Given the description of an element on the screen output the (x, y) to click on. 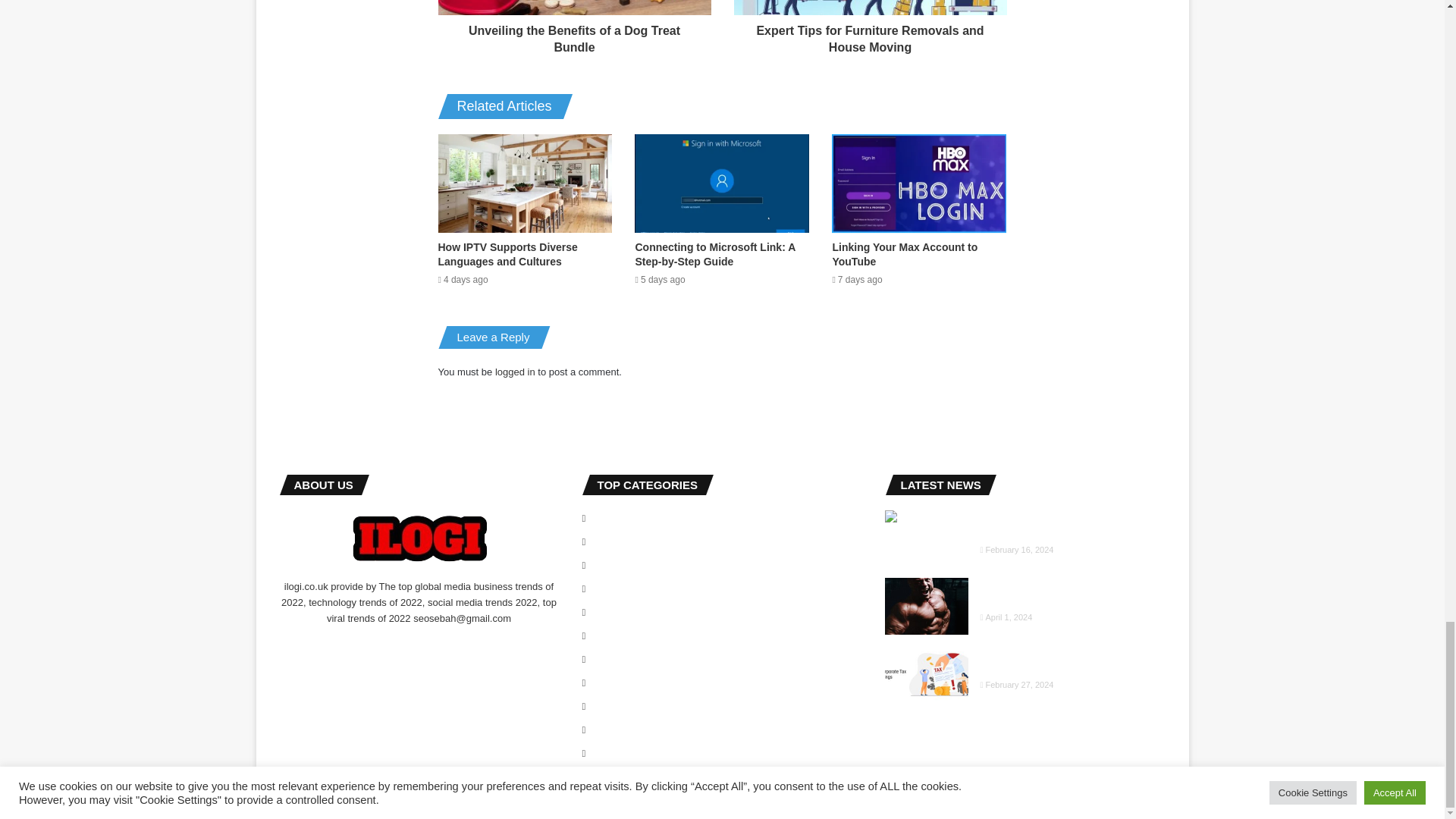
Unveiling the Benefits of a Dog Treat Bundle (574, 35)
Connecting to Microsoft Link: A Step-by-Step Guide (714, 253)
How IPTV Supports Diverse Languages and Cultures (508, 253)
Expert Tips for Furniture Removals and House Moving (870, 35)
